Given the description of an element on the screen output the (x, y) to click on. 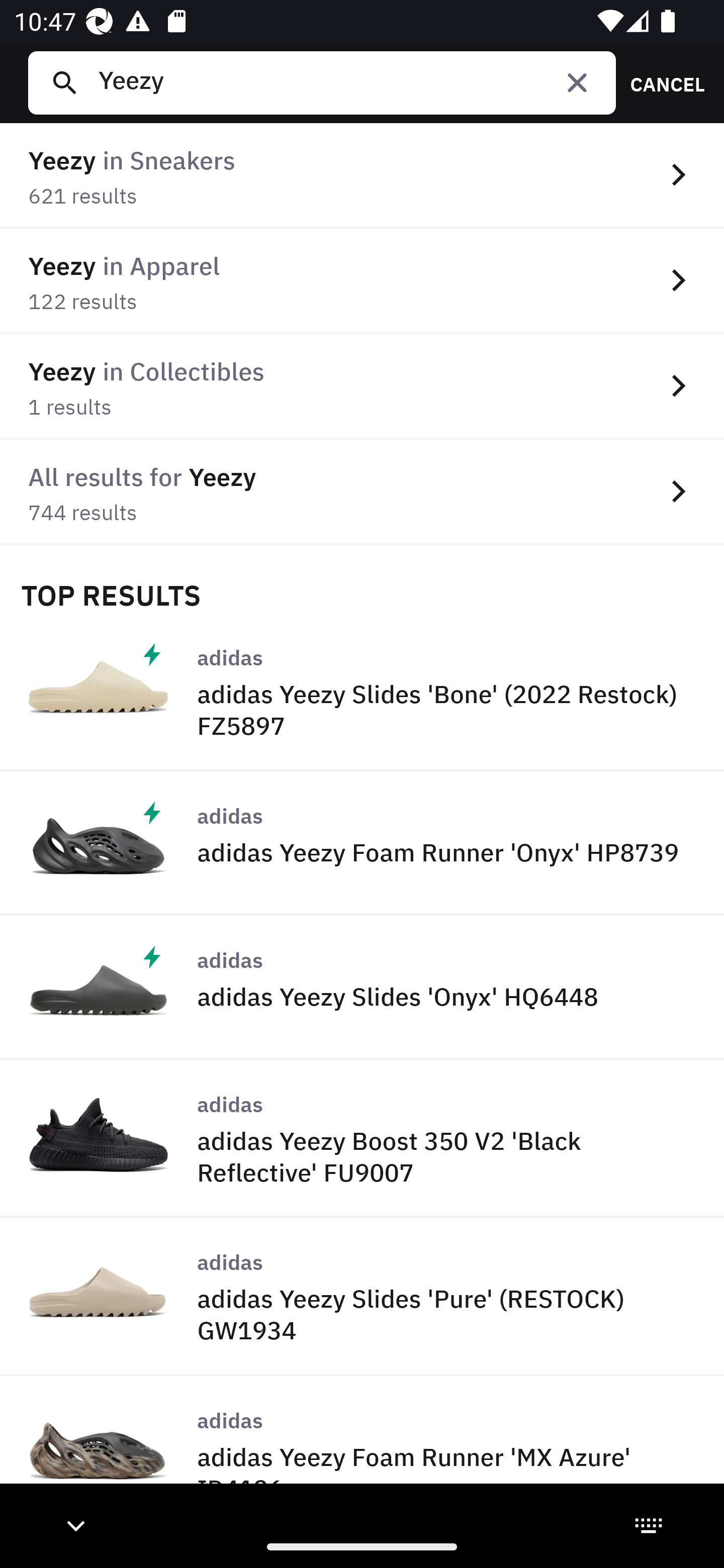
CANCEL (660, 82)
Yeezy (349, 82)
 (577, 82)
Yeezy  in Sneakers 621 results  (362, 175)
Yeezy  in Apparel 122 results  (362, 280)
Yeezy  in Collectibles 1 results  (362, 386)
All results for  Yeezy 744 results  (362, 492)
 adidas adidas Yeezy Foam Runner 'Onyx' HP8739 (362, 843)
 adidas adidas Yeezy Slides 'Onyx' HQ6448 (362, 987)
adidas adidas Yeezy Slides 'Pure' (RESTOCK) GW1934 (362, 1297)
adidas adidas Yeezy Foam Runner 'MX Azure' ID4126 (362, 1450)
